Given the description of an element on the screen output the (x, y) to click on. 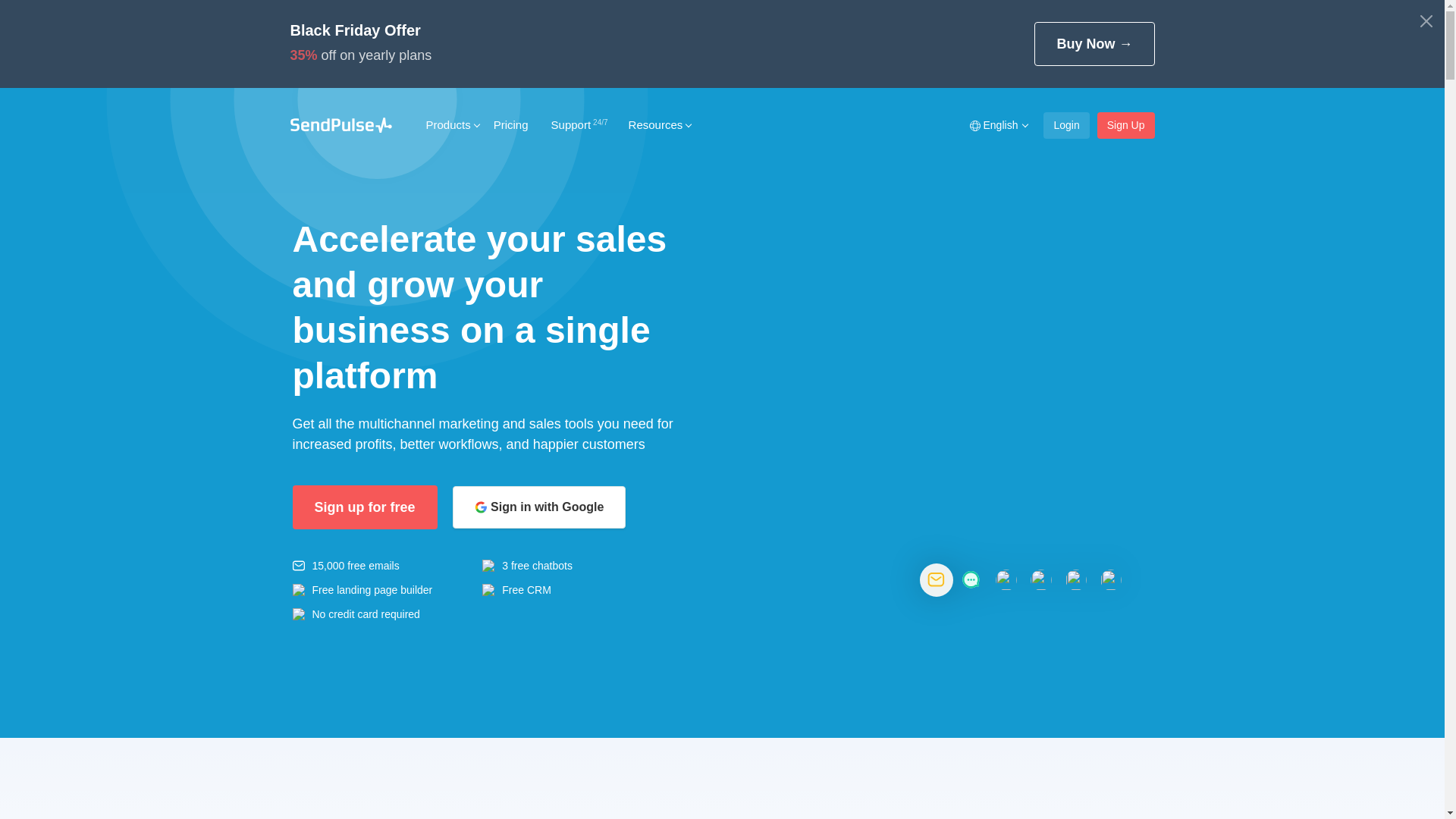
Login Element type: text (1065, 125)
Products Element type: text (447, 124)
Sign Up Element type: text (1125, 125)
Pricing Element type: text (510, 124)
Sign in with Google Element type: text (539, 506)
Support Element type: text (578, 124)
Sign up for free Element type: text (364, 507)
English Element type: text (998, 125)
Resources Element type: text (655, 124)
